Given the description of an element on the screen output the (x, y) to click on. 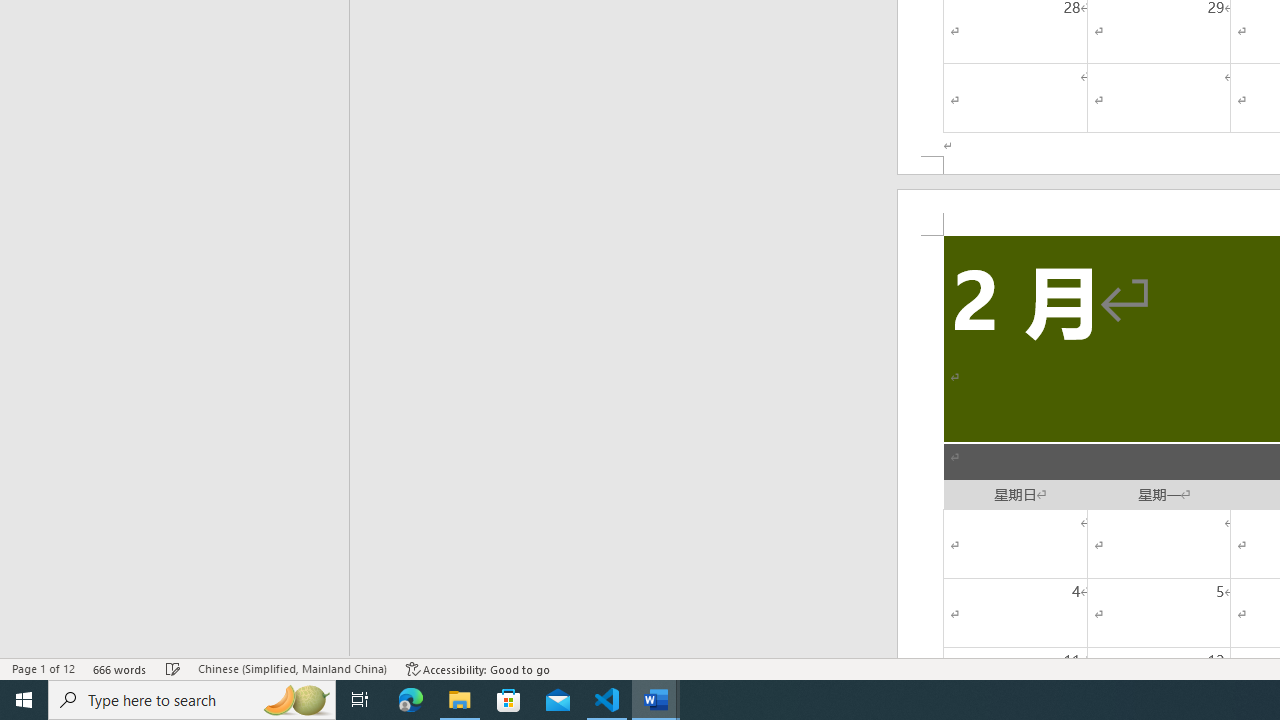
Page Number Page 1 of 12 (43, 668)
